Given the description of an element on the screen output the (x, y) to click on. 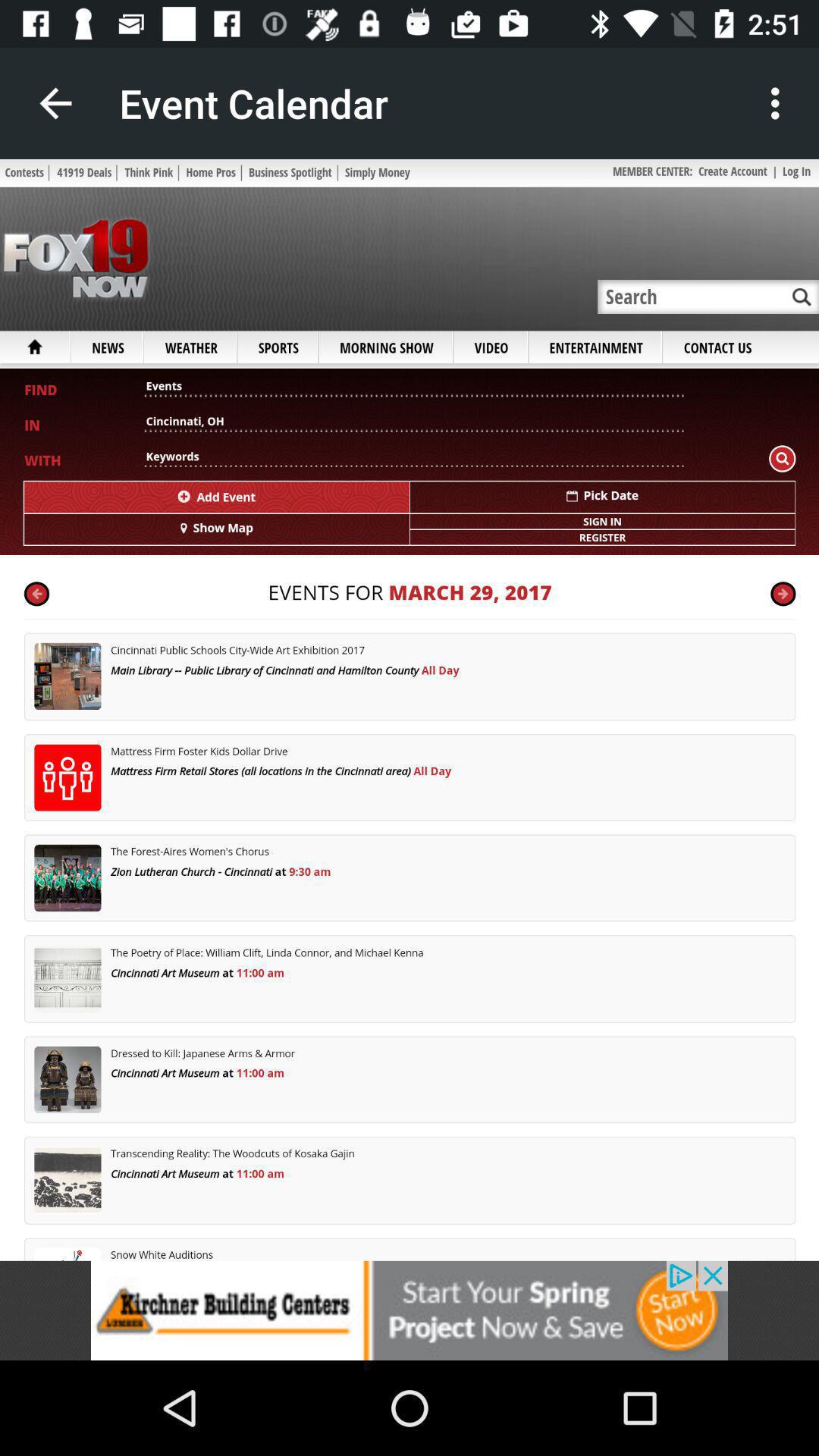
home page of image (409, 709)
